Given the description of an element on the screen output the (x, y) to click on. 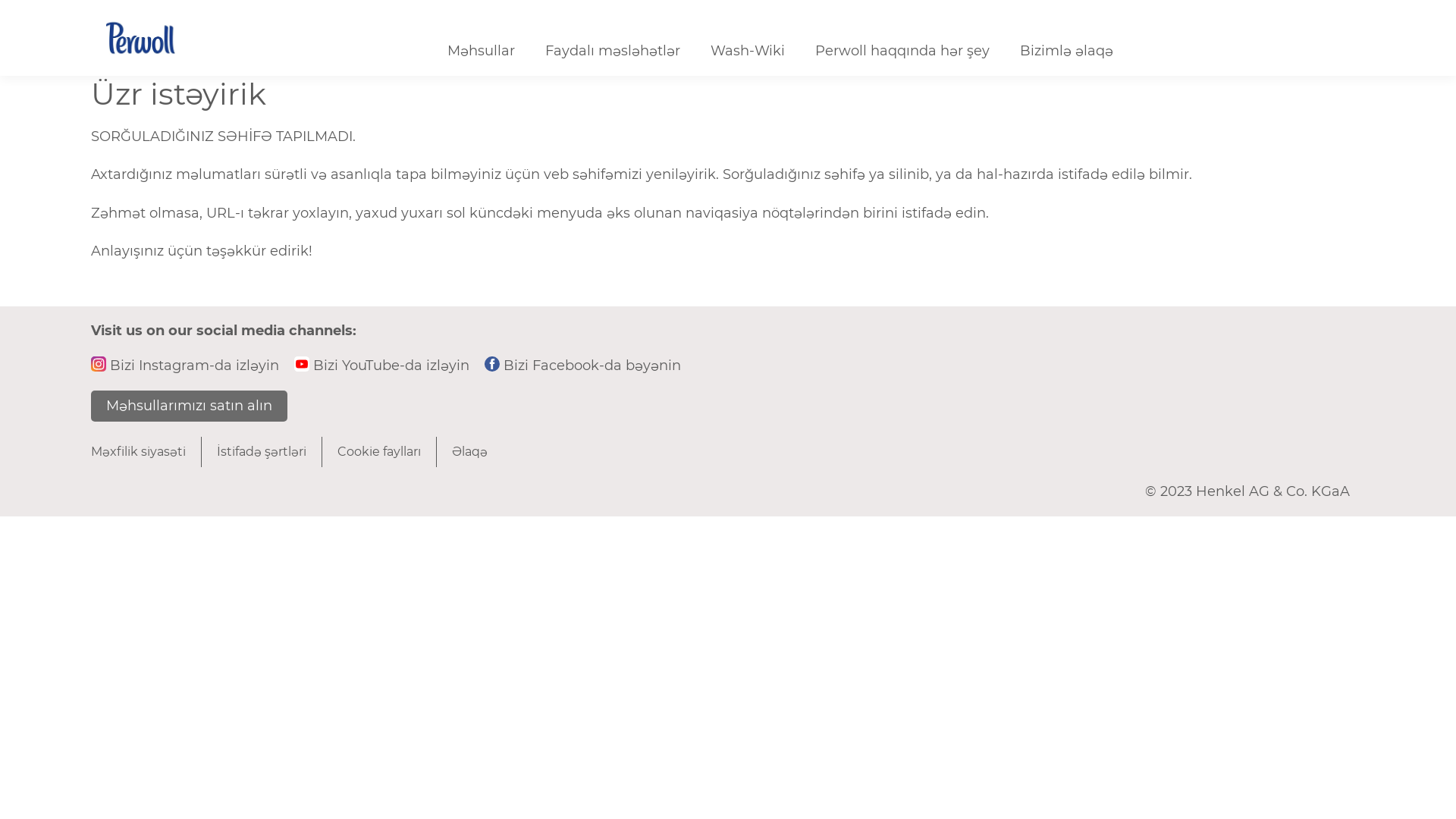
Wash-Wiki Element type: text (747, 51)
